Given the description of an element on the screen output the (x, y) to click on. 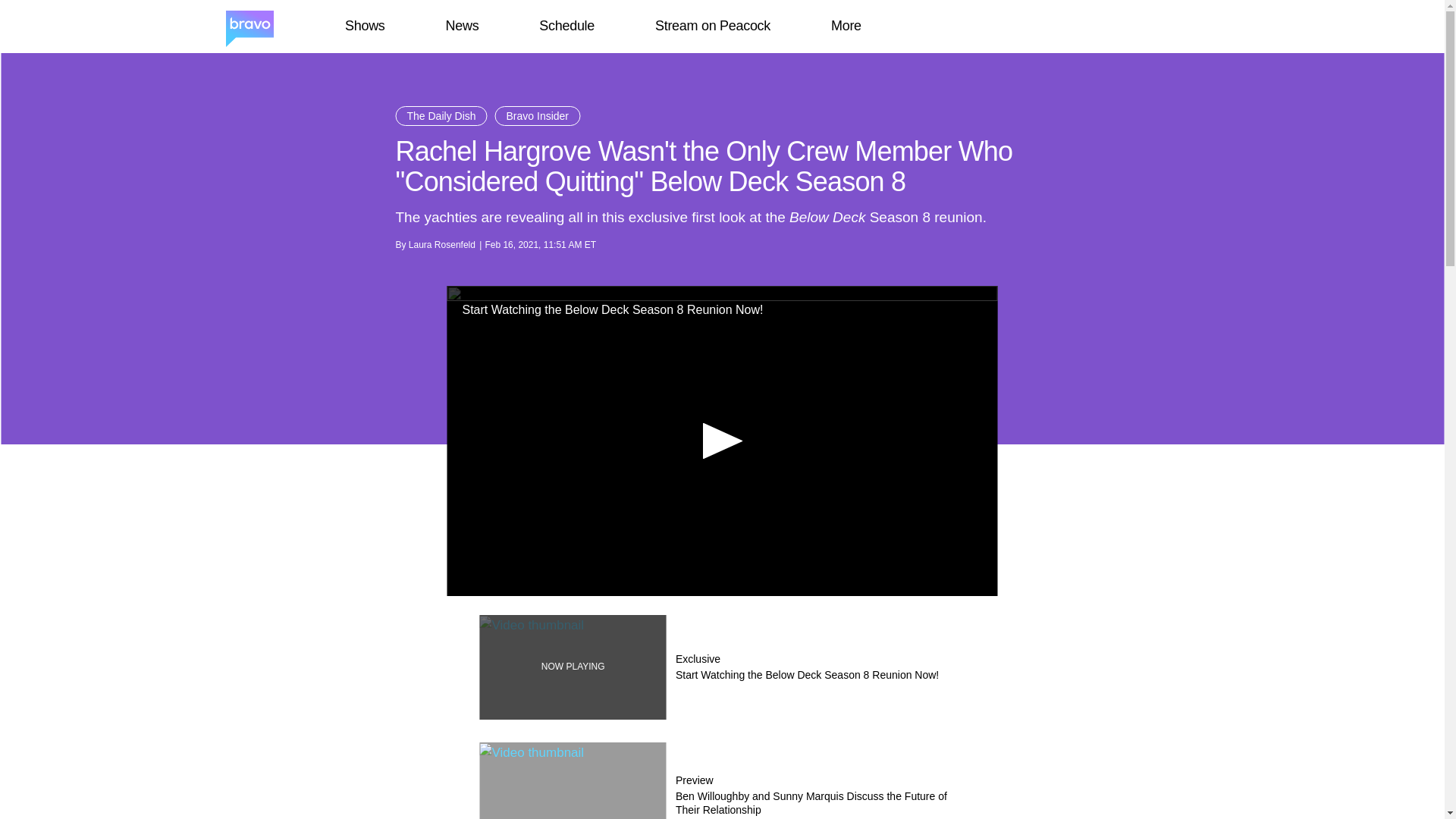
Bravo Insider (537, 116)
The Daily Dish (441, 116)
Stream on Peacock (712, 26)
Laura Rosenfeld (442, 244)
Shows (363, 26)
News (462, 26)
Schedule (566, 26)
